Given the description of an element on the screen output the (x, y) to click on. 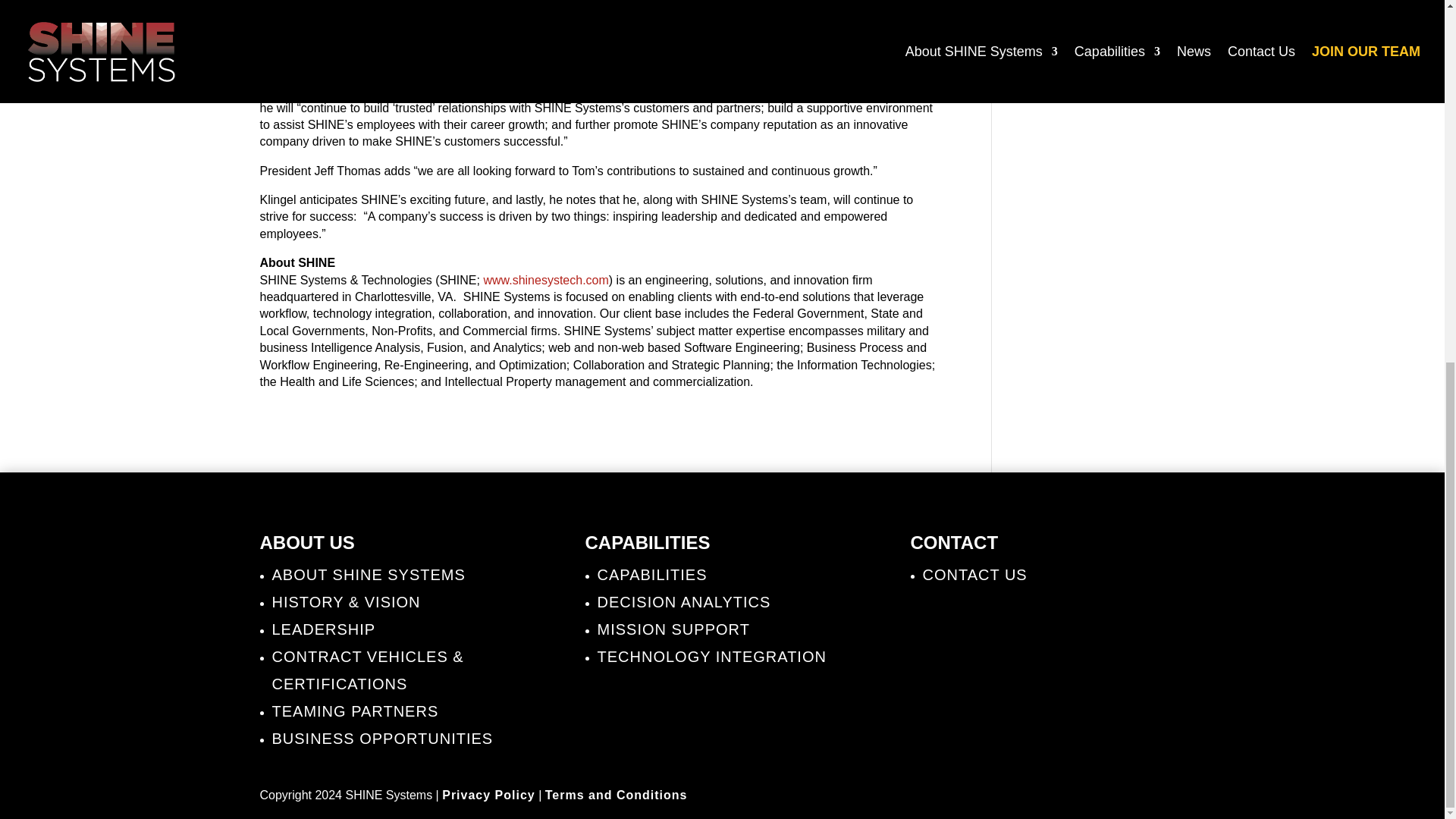
www.shinesystech.com (545, 279)
DECISION ANALYTICS (683, 601)
CAPABILITIES (651, 574)
BUSINESS OPPORTUNITIES (381, 738)
MISSION SUPPORT (672, 629)
TEAMING PARTNERS (354, 710)
LEADERSHIP (322, 629)
ABOUT SHINE SYSTEMS (367, 574)
